Given the description of an element on the screen output the (x, y) to click on. 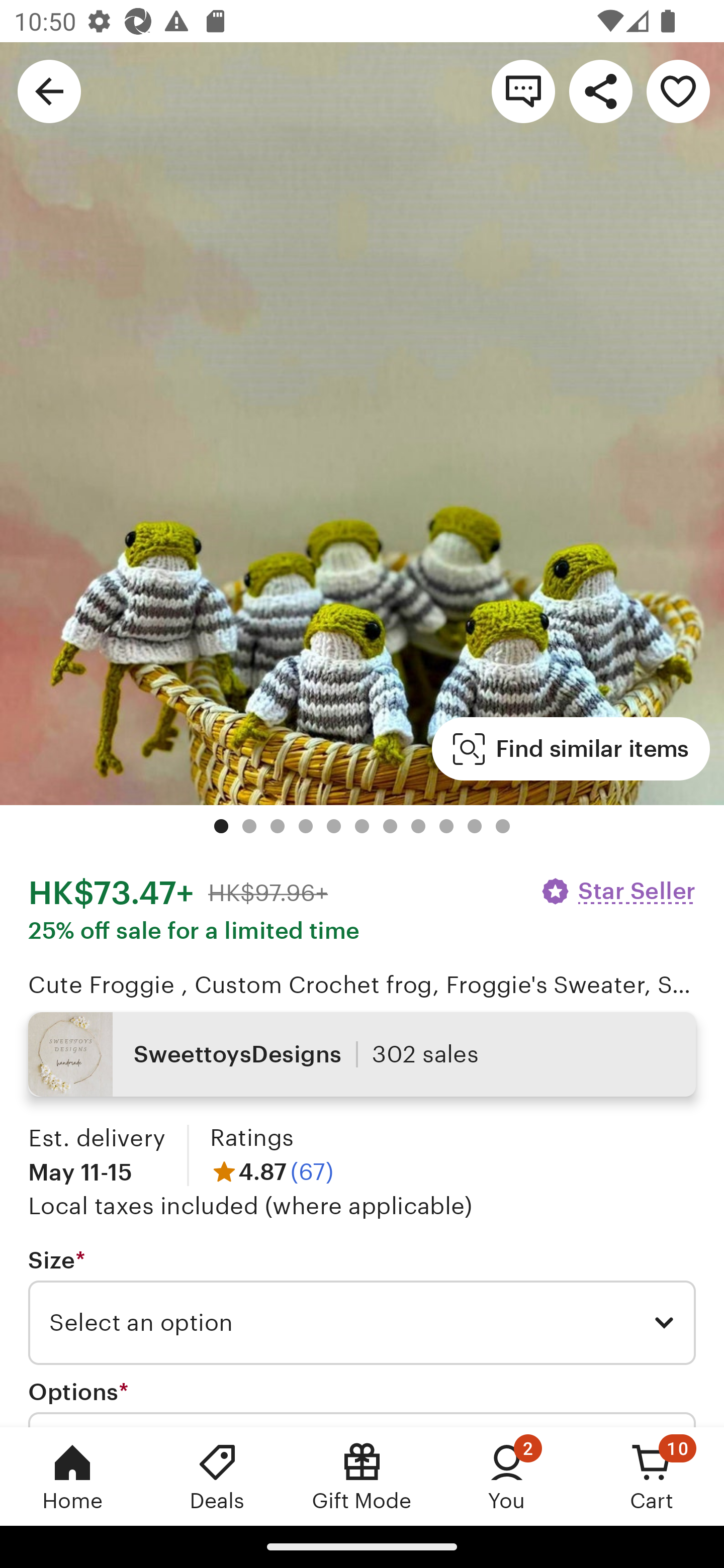
Navigate up (49, 90)
Contact shop (523, 90)
Share (600, 90)
Find similar items (571, 748)
Star Seller (617, 890)
SweettoysDesigns 302 sales (361, 1054)
Ratings (251, 1137)
4.87 (67) (271, 1171)
Size * Required Select an option (361, 1306)
Select an option (361, 1323)
Options * Required Select an option (361, 1402)
Deals (216, 1475)
Gift Mode (361, 1475)
You, 2 new notifications You (506, 1475)
Cart, 10 new notifications Cart (651, 1475)
